Given the description of an element on the screen output the (x, y) to click on. 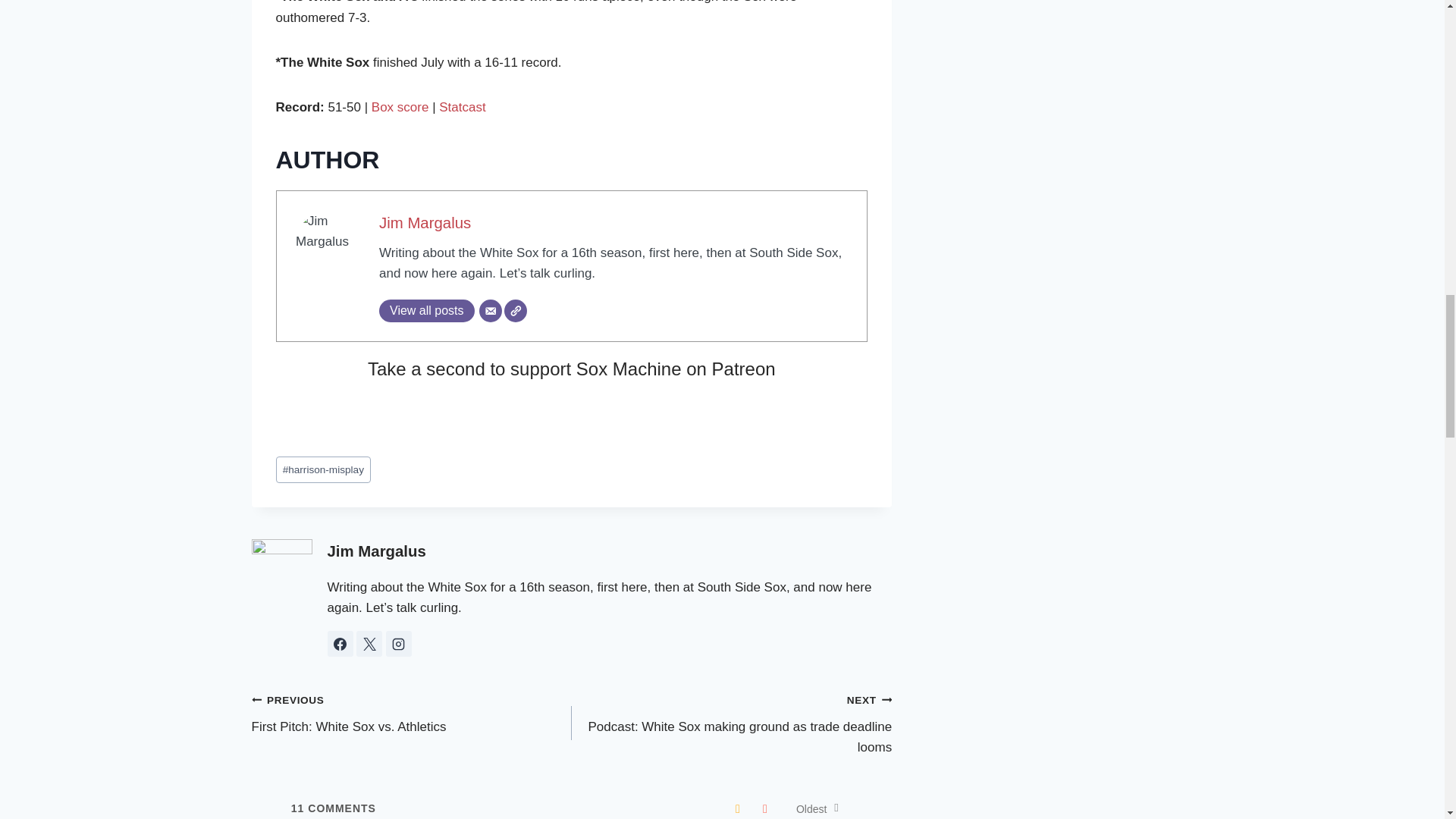
View all posts (426, 310)
harrison-misplay (323, 469)
Posts by Jim Margalus (376, 550)
Jim Margalus (424, 222)
Follow Jim Margalus on Facebook (340, 643)
Follow Jim Margalus on Instagram (398, 643)
Statcast (461, 106)
11 (297, 808)
Box score (400, 106)
Follow Jim Margalus on X formerly Twitter (368, 643)
